Given the description of an element on the screen output the (x, y) to click on. 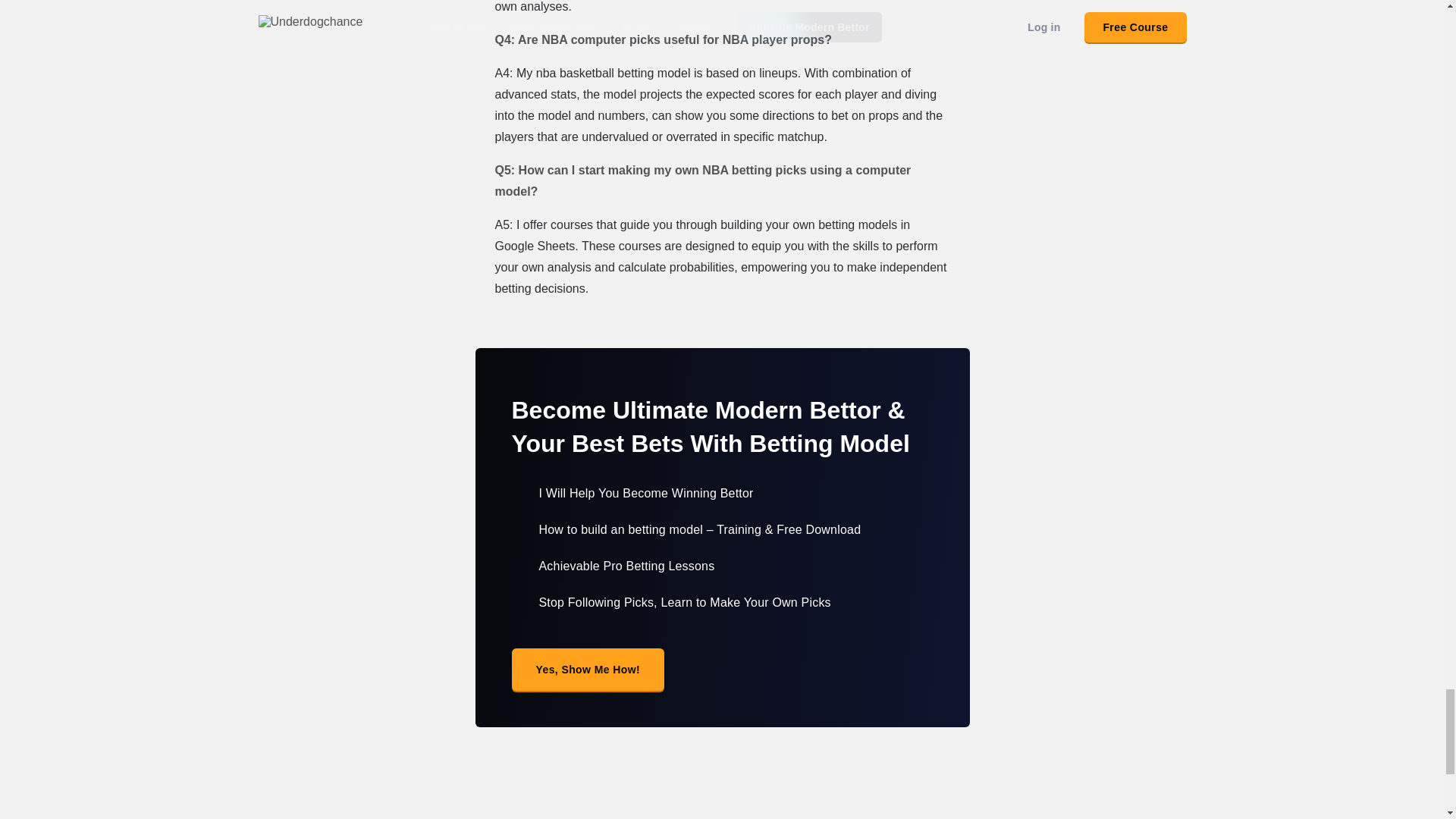
Yes, Show Me How! (587, 669)
